Given the description of an element on the screen output the (x, y) to click on. 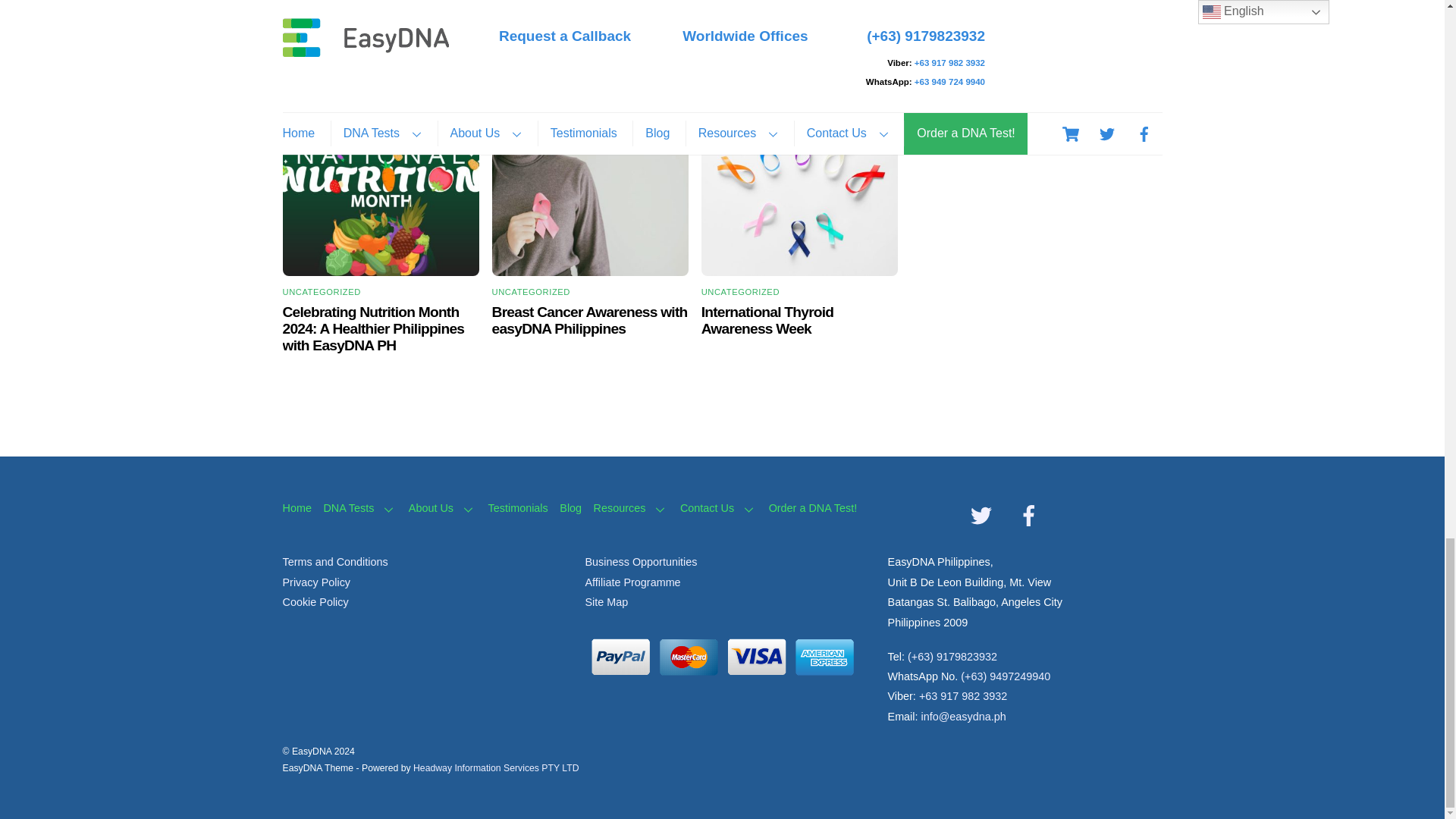
international thyroid awareness week philippines 2024 (799, 193)
